Given the description of an element on the screen output the (x, y) to click on. 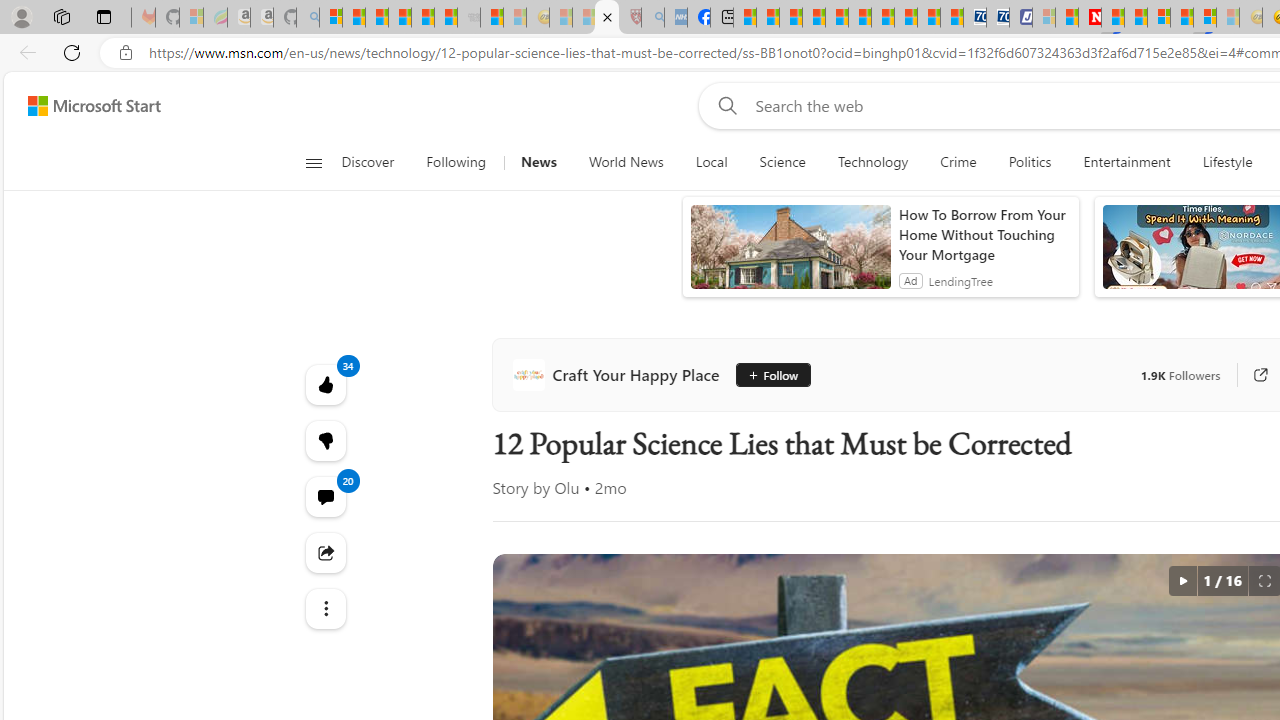
Climate Damage Becomes Too Severe To Reverse (813, 17)
autorotate button (1181, 580)
Cheap Hotels - Save70.com (997, 17)
